Given the description of an element on the screen output the (x, y) to click on. 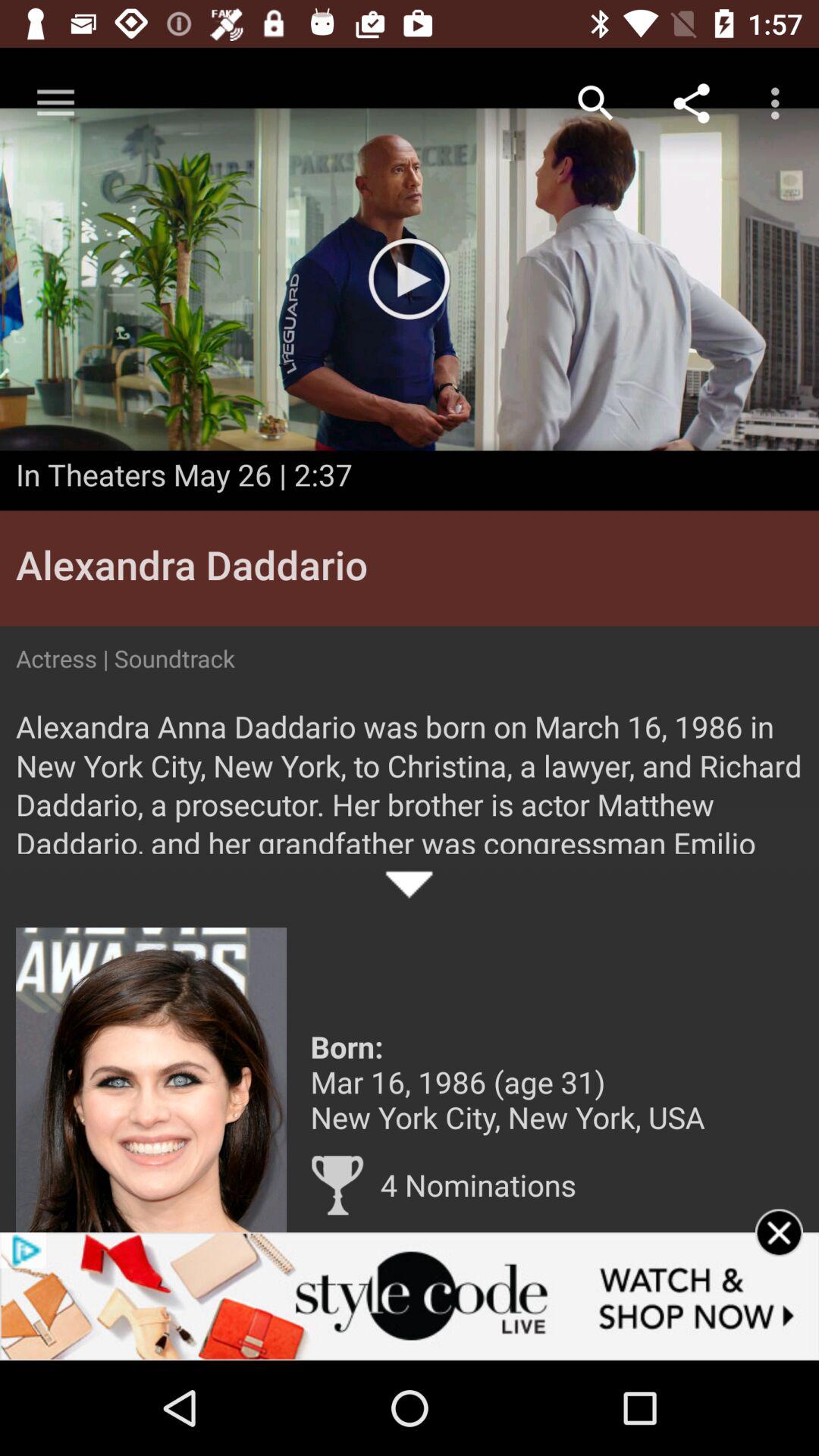
get more information (150, 1079)
